Given the description of an element on the screen output the (x, y) to click on. 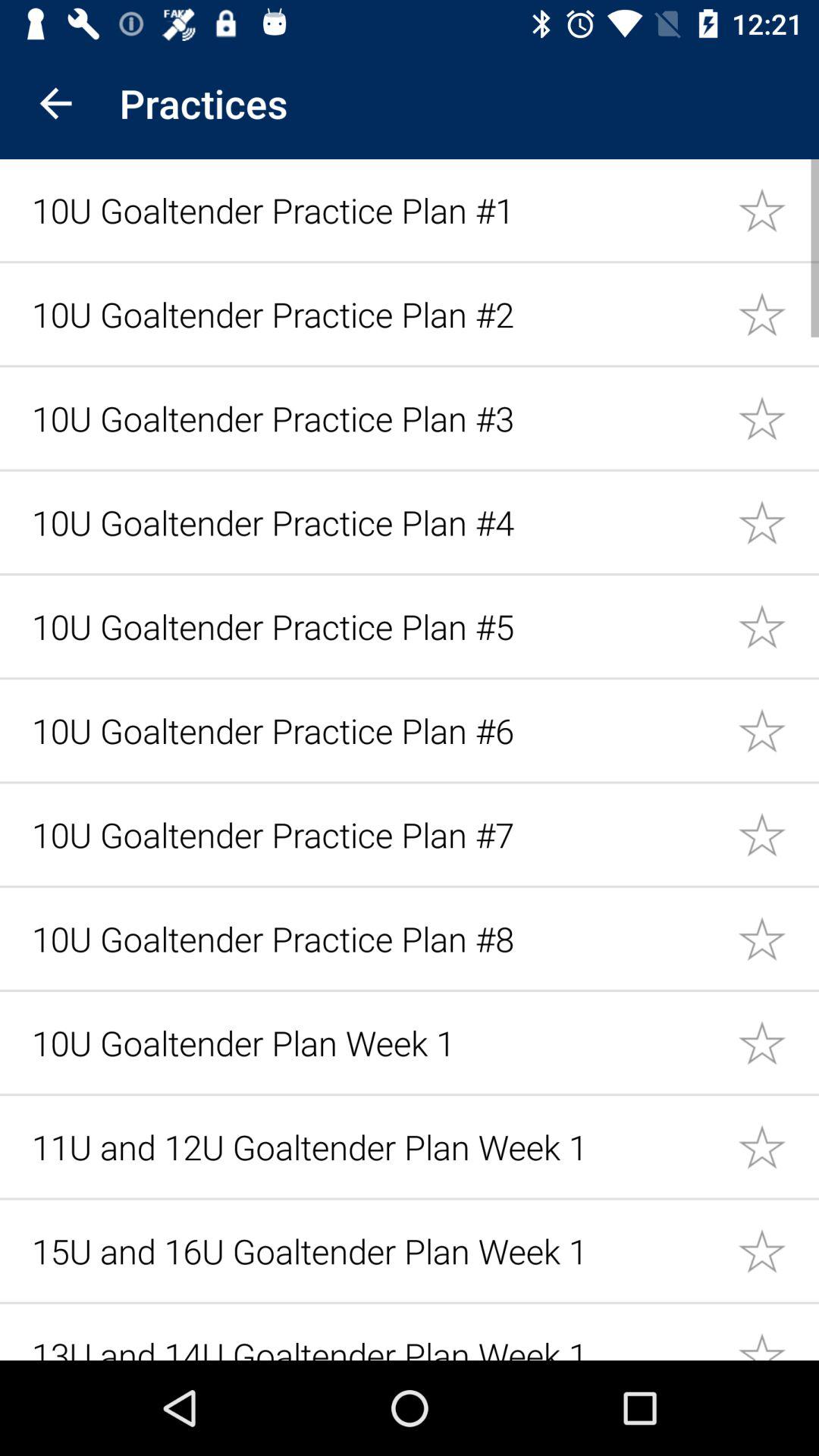
add to favorite bookmarks star (778, 626)
